Given the description of an element on the screen output the (x, y) to click on. 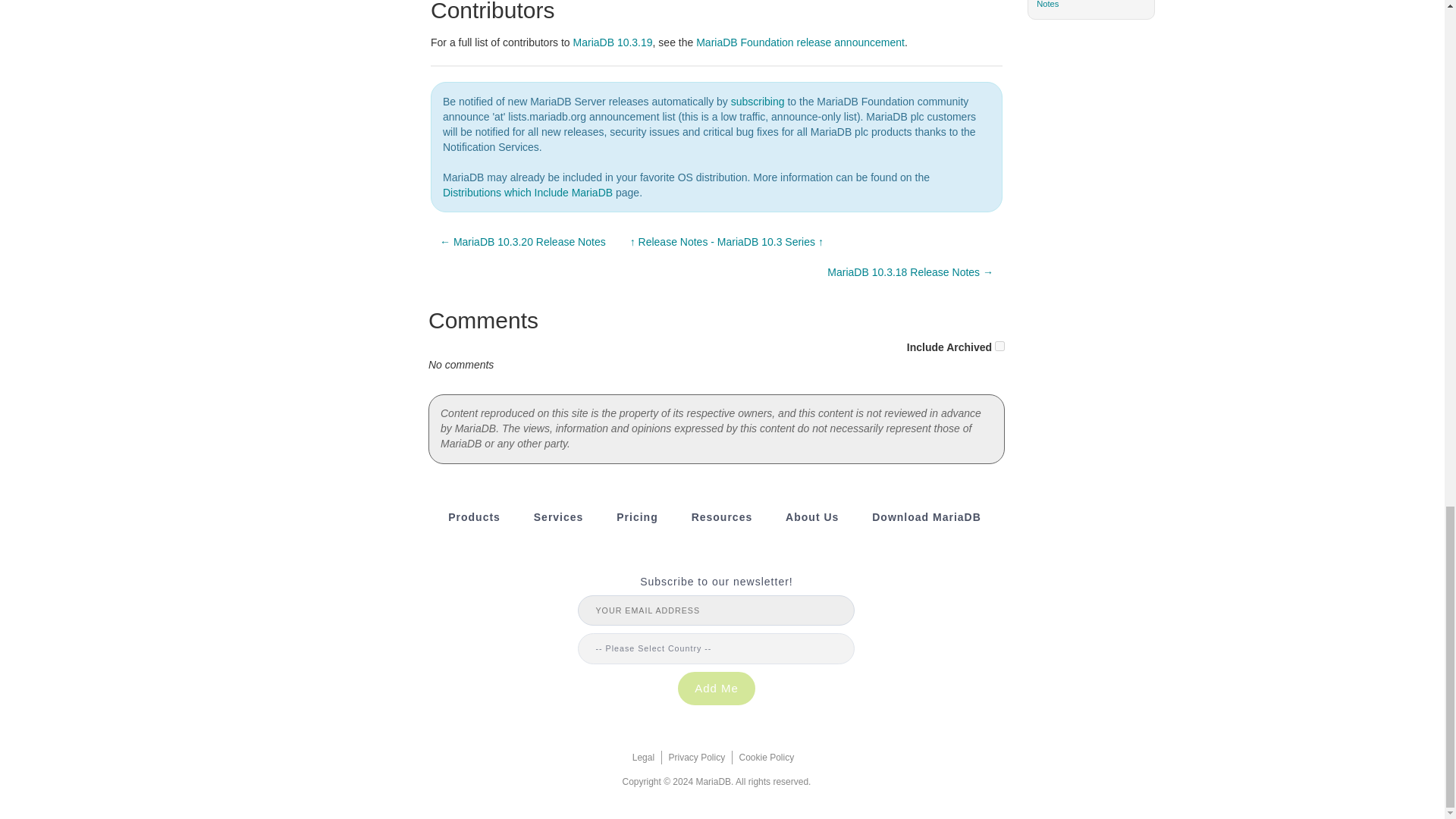
1 (999, 346)
Services (558, 517)
Pricing (636, 517)
Resources (721, 517)
Products (474, 517)
